Given the description of an element on the screen output the (x, y) to click on. 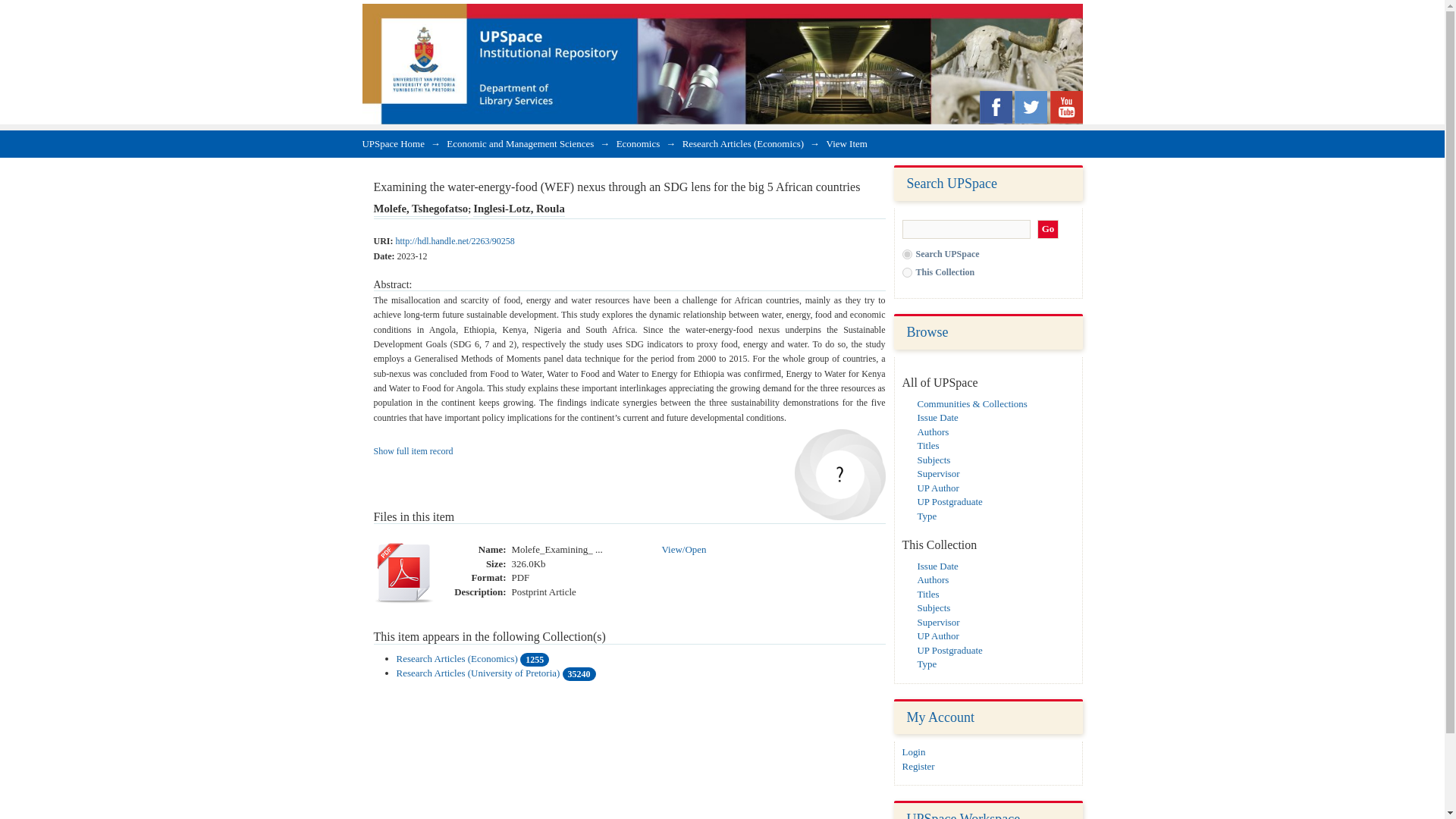
UP Author (938, 487)
UP Postgraduate (949, 501)
UPSpace Home (393, 143)
Login (914, 751)
Issue Date (937, 417)
UPSpace Workspace (963, 815)
Postprint Article (543, 592)
Supervisor (938, 473)
Type (927, 514)
Titles (928, 593)
Go (1047, 229)
Authors (933, 431)
Type (927, 663)
UP Author (938, 635)
Economics (638, 143)
